Given the description of an element on the screen output the (x, y) to click on. 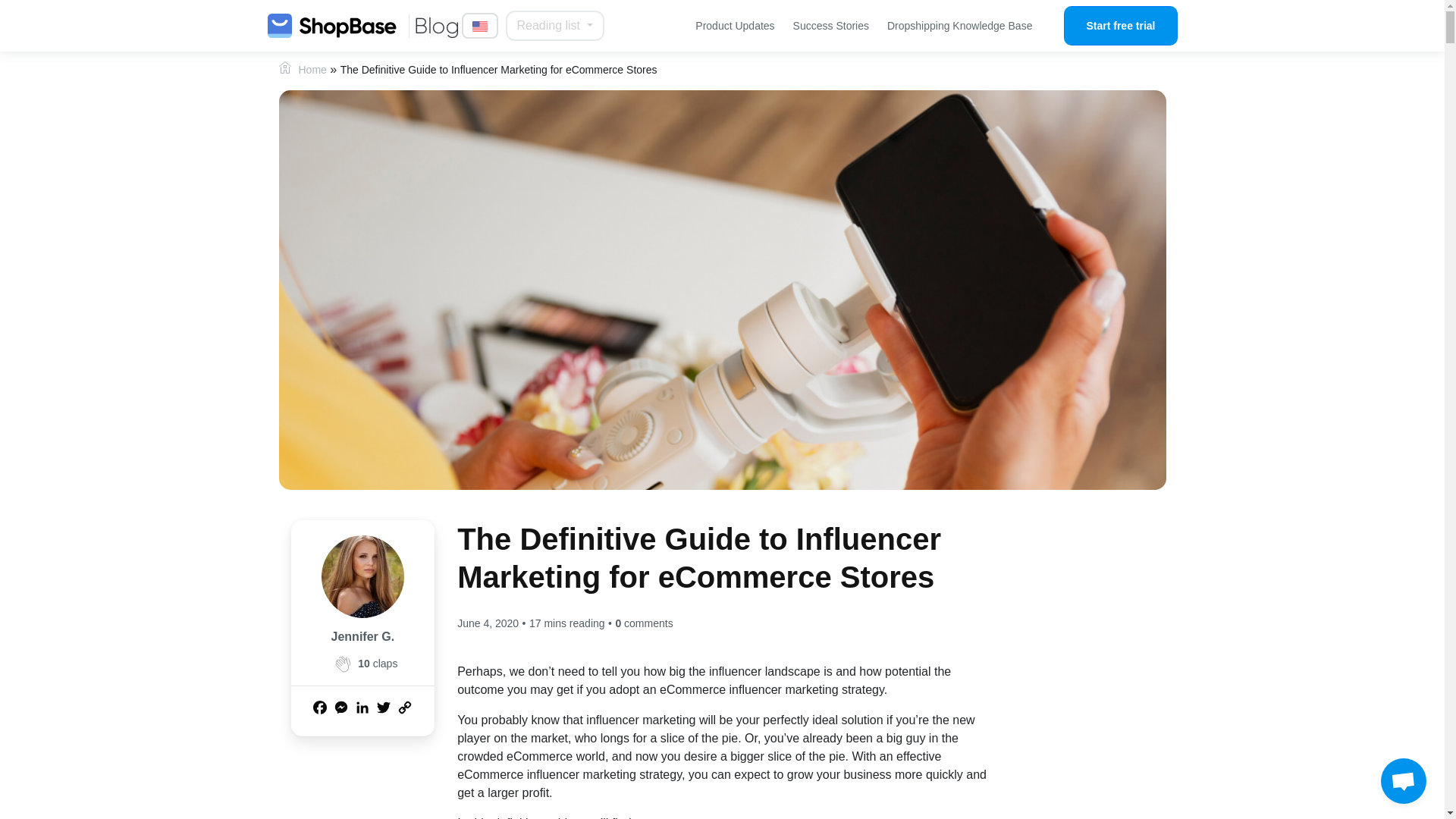
Success Stories (831, 26)
Start free trial (1120, 25)
Facebook (319, 707)
Reading list (554, 25)
Twitter (383, 707)
Copy Link (404, 707)
LinkedIn (362, 707)
Product Updates (734, 26)
Messenger (341, 707)
2031 (342, 663)
Home (312, 69)
Dropshipping Knowledge Base (959, 26)
